Given the description of an element on the screen output the (x, y) to click on. 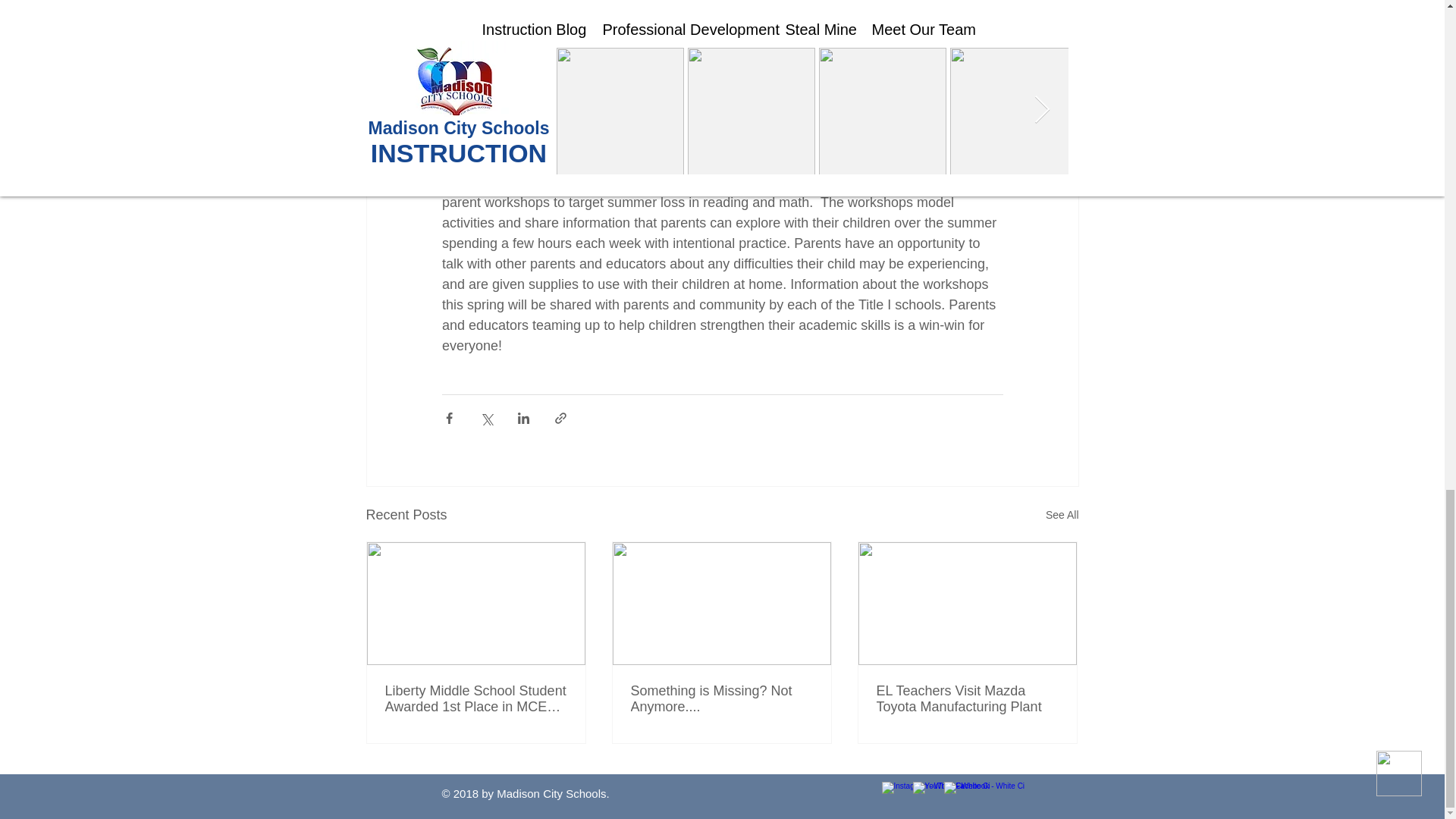
Something is Missing? Not Anymore.... (721, 698)
EL Teachers Visit Mazda Toyota Manufacturing Plant (967, 698)
See All (1061, 515)
